Given the description of an element on the screen output the (x, y) to click on. 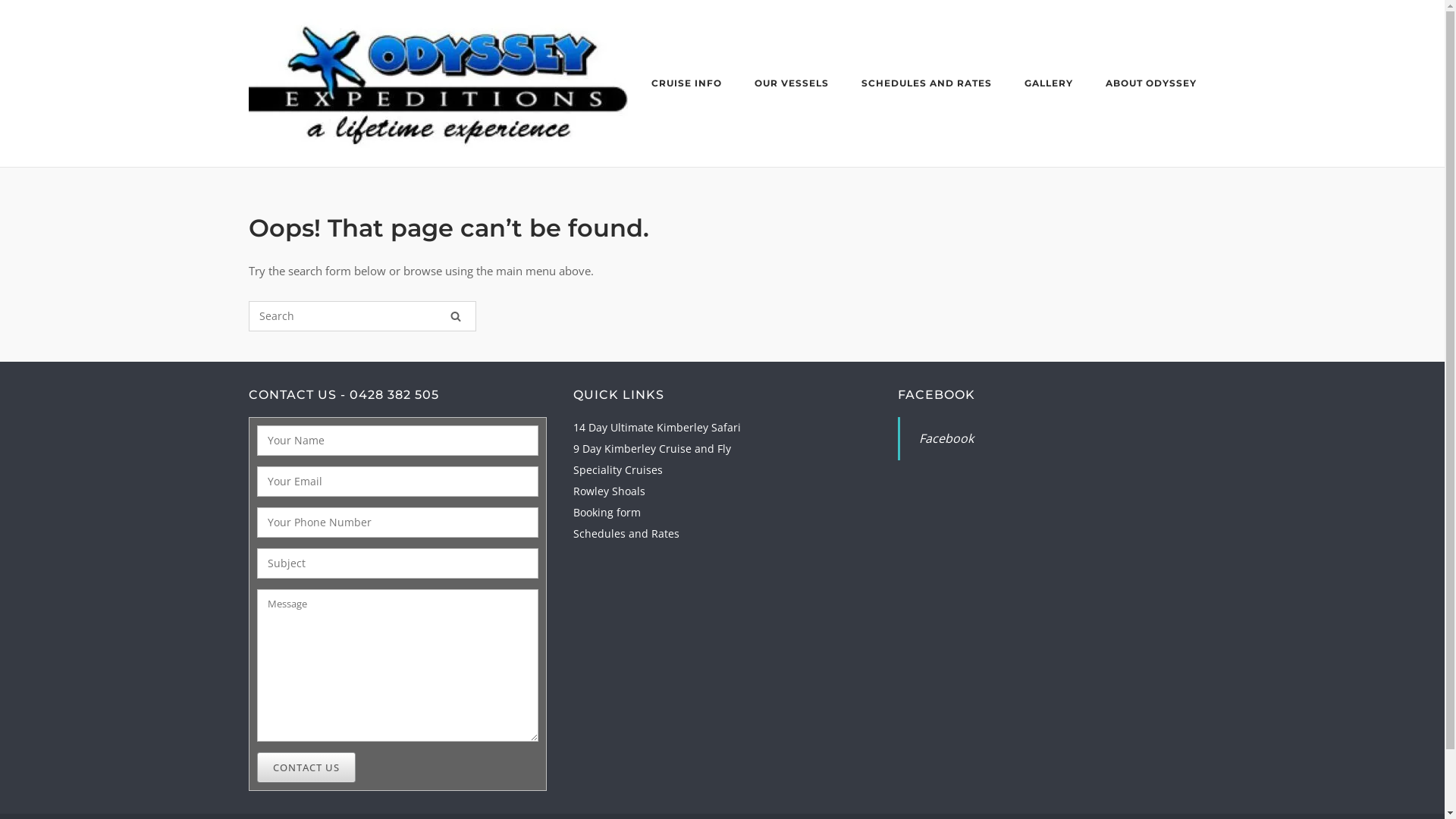
Schedules and Rates Element type: text (626, 533)
SCHEDULES AND RATES Element type: text (926, 85)
CONTACT US Element type: text (305, 767)
Speciality Cruises Element type: text (617, 469)
9 Day Kimberley Cruise and Fly Element type: text (652, 448)
FACEBOOK Element type: text (936, 394)
CRUISE INFO Element type: text (685, 85)
Booking form Element type: text (606, 512)
GALLERY Element type: text (1047, 85)
OUR VESSELS Element type: text (790, 85)
Facebook Element type: text (946, 437)
ABOUT ODYSSEY Element type: text (1150, 85)
Rowley Shoals Element type: text (609, 490)
14 Day Ultimate Kimberley Safari Element type: text (656, 427)
